Given the description of an element on the screen output the (x, y) to click on. 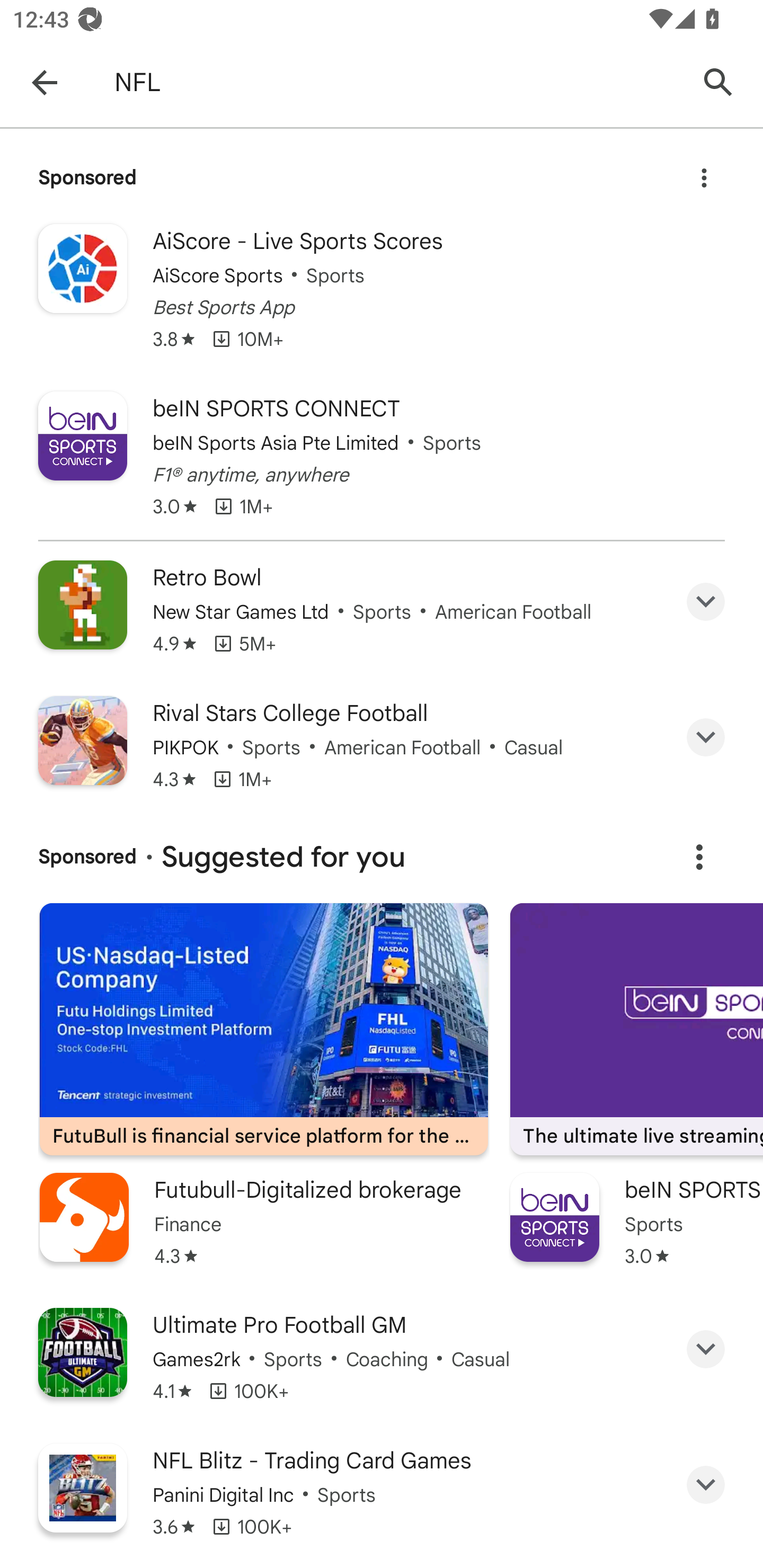
NFL (397, 82)
Navigate up (44, 81)
Search Google Play (718, 81)
About this ad (704, 172)
Expand content for Retro Bowl (705, 600)
Expand content for Rival Stars College Football (705, 737)
About this ad (699, 856)
Expand content for Ultimate Pro Football GM (705, 1348)
Expand content for NFL Blitz - Trading Card Games (705, 1484)
